Given the description of an element on the screen output the (x, y) to click on. 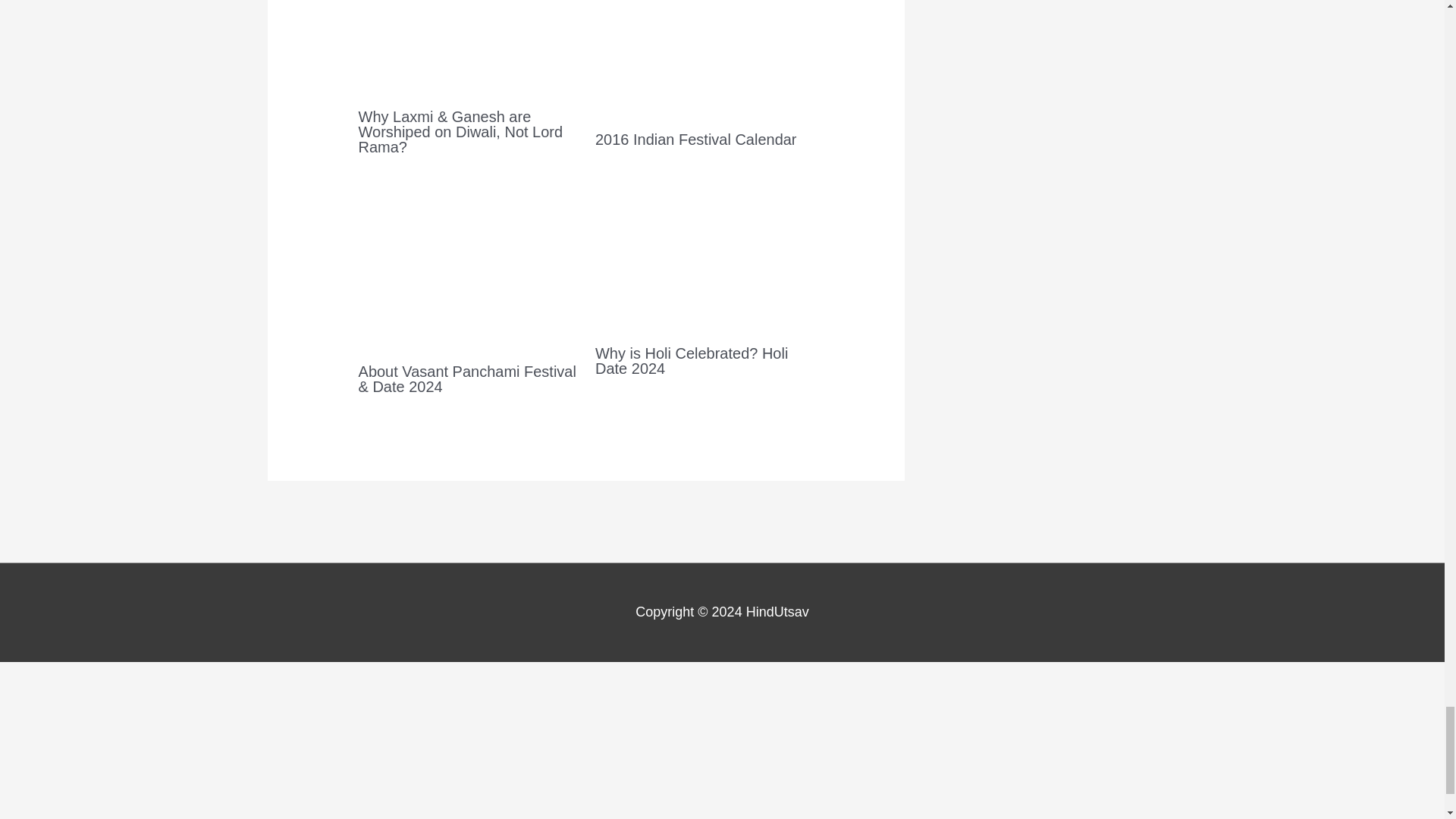
Why is Holi Celebrated? Holi Date 2024 6 (703, 259)
2016 Indian Festival Calendar (695, 139)
Why is Holi Celebrated? Holi Date 2024 (691, 360)
2016 Indian Festival Calendar 4 (703, 59)
